Given the description of an element on the screen output the (x, y) to click on. 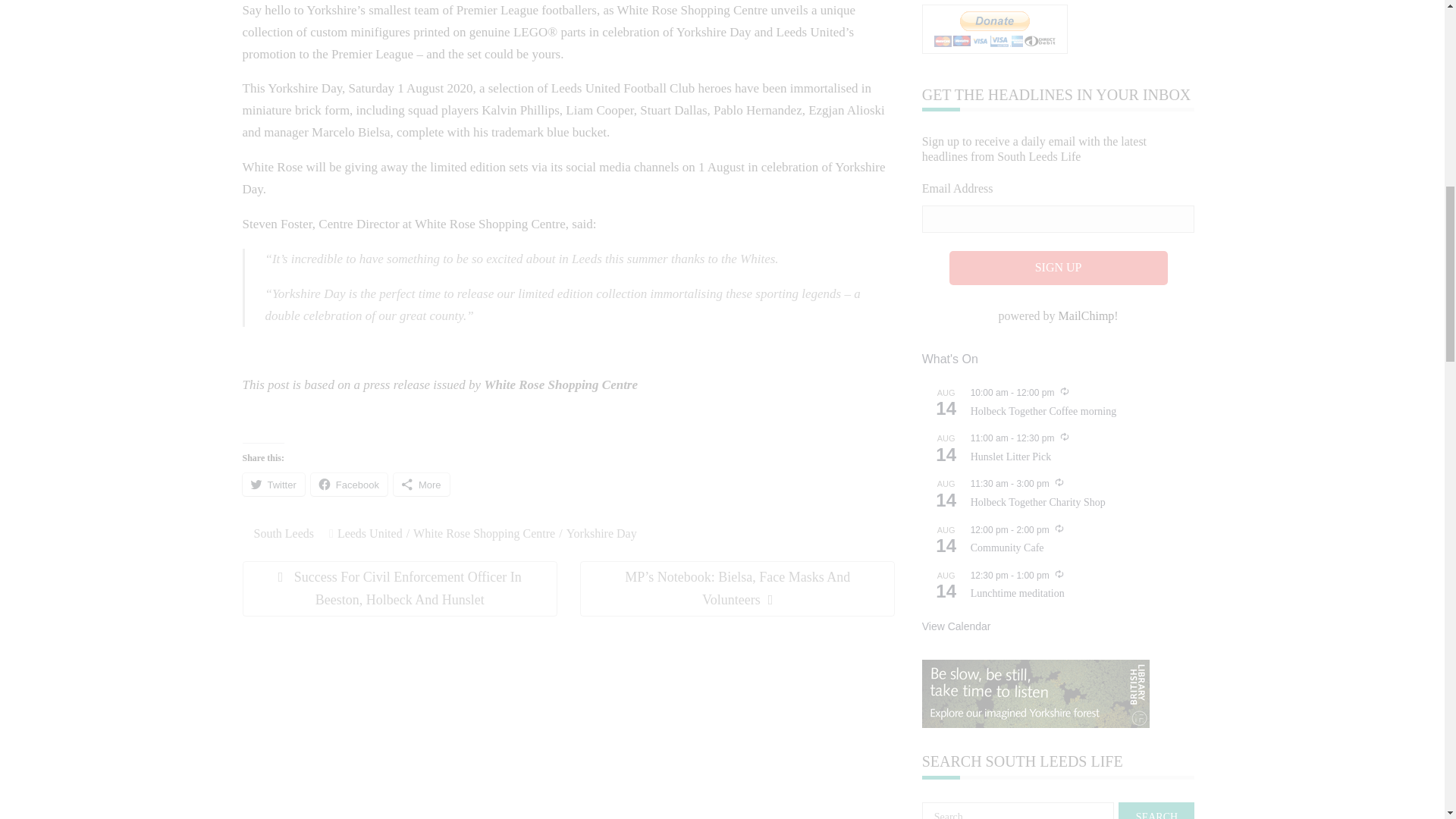
Recurring (1059, 481)
Sign up (1058, 267)
Search (1155, 810)
Recurring (1059, 528)
Recurring (1063, 436)
Recurring (1059, 573)
Click to share on Facebook (349, 484)
Recurring (1063, 390)
Search (1155, 810)
Click to share on Twitter (273, 484)
